Given the description of an element on the screen output the (x, y) to click on. 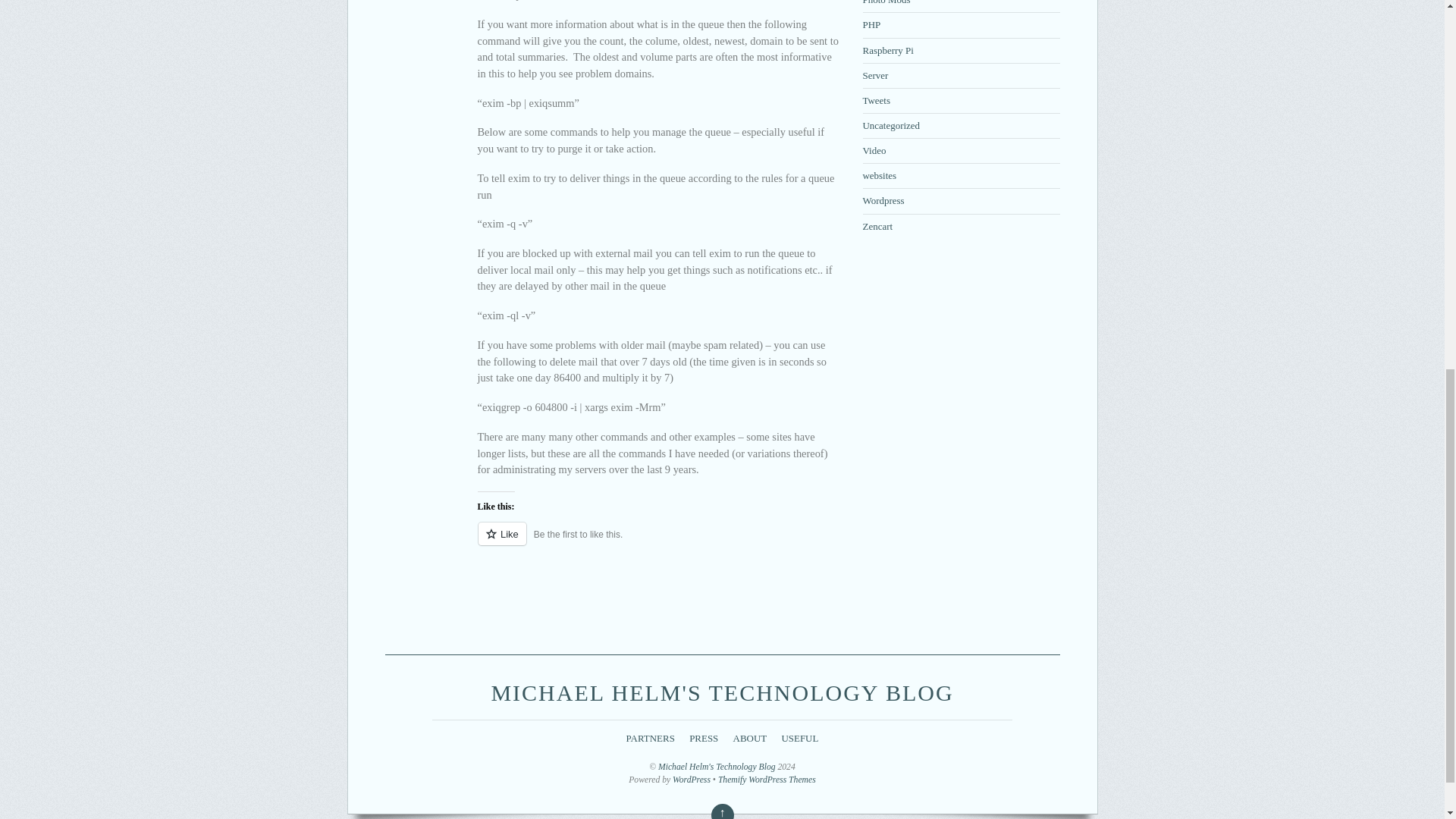
Video (874, 150)
Michael Helm's Technology Blog (721, 691)
ABOUT (750, 737)
Michael Helm's Technology Blog (717, 767)
Photo Mods (887, 2)
Themify WordPress Themes (766, 779)
Like or Reblog (658, 542)
Wordpress (883, 200)
WordPress (691, 779)
PARTNERS (650, 737)
Uncategorized (891, 125)
PRESS (702, 737)
MICHAEL HELM'S TECHNOLOGY BLOG (721, 691)
PHP (871, 24)
Zencart (878, 225)
